Given the description of an element on the screen output the (x, y) to click on. 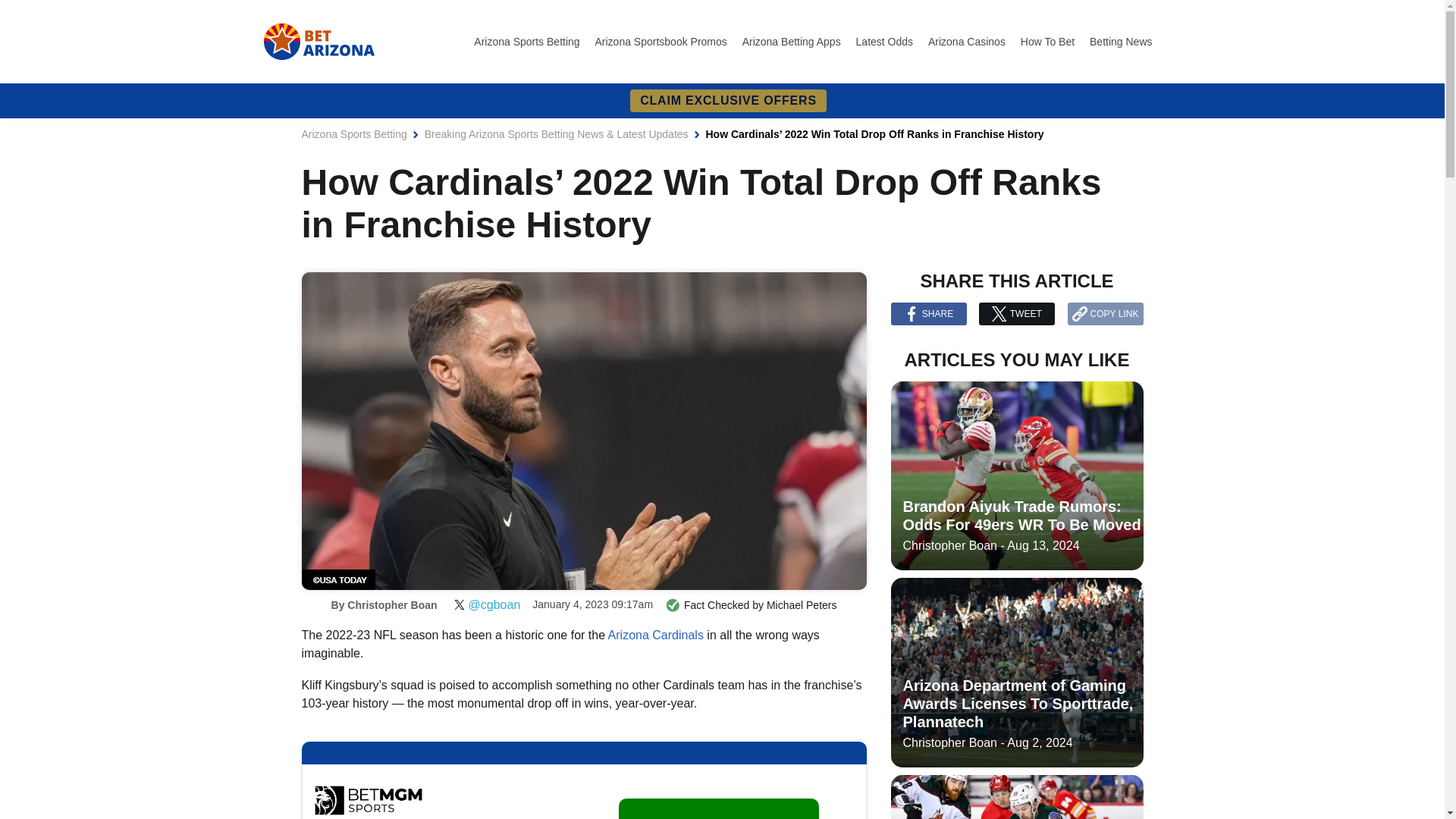
Latest Odds (885, 41)
Arizona Sports Betting (528, 41)
Arizona Betting Apps (793, 41)
Arizona Sports Betting (354, 133)
BetArizona.com logo (318, 41)
Brandon Aiyuk Trade Rumors: Odds For 49ers WR To Be Moved (1015, 475)
Arizona Sportsbook Promos (661, 41)
BetMGM Sports (368, 798)
